Given the description of an element on the screen output the (x, y) to click on. 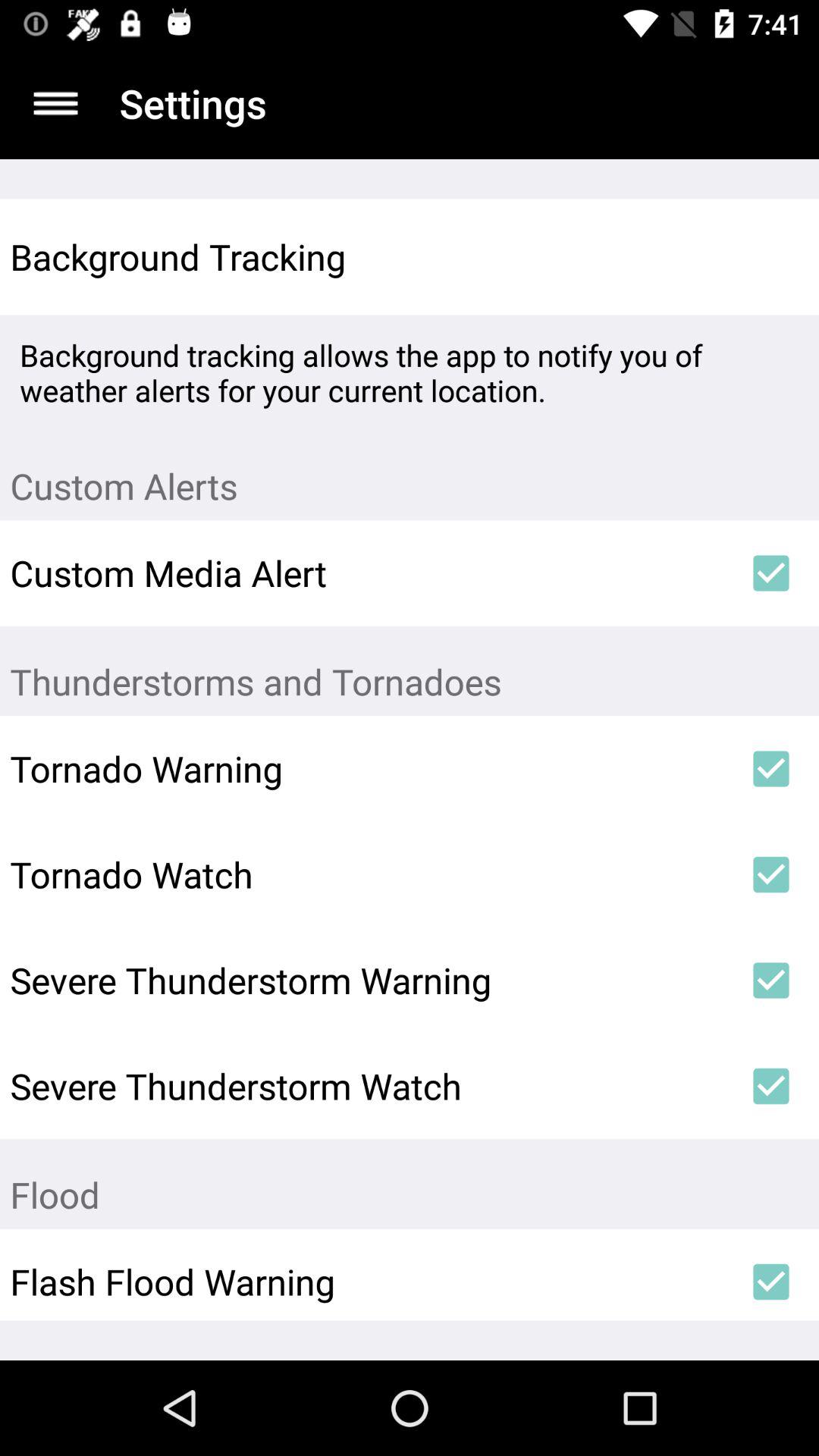
show settings list (55, 103)
